Given the description of an element on the screen output the (x, y) to click on. 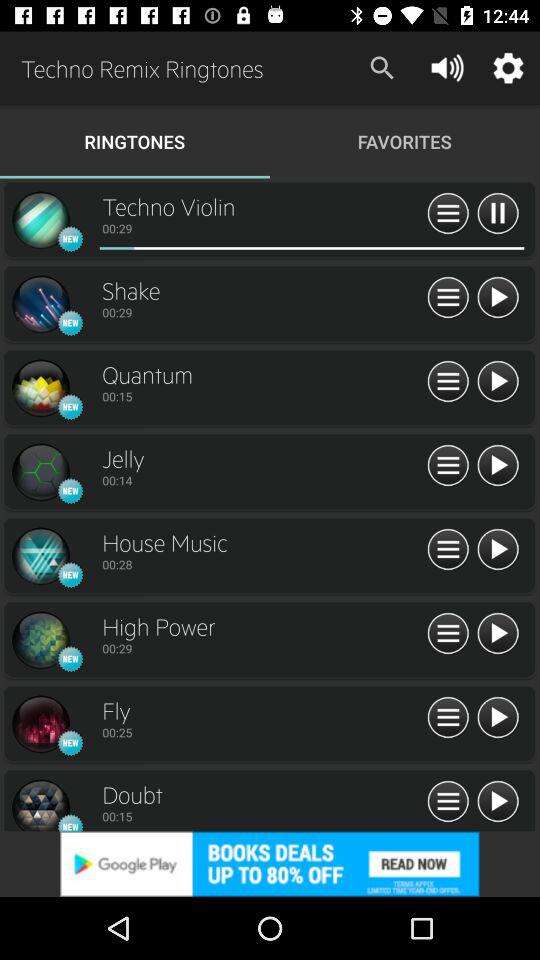
open a playlist option (447, 213)
